Given the description of an element on the screen output the (x, y) to click on. 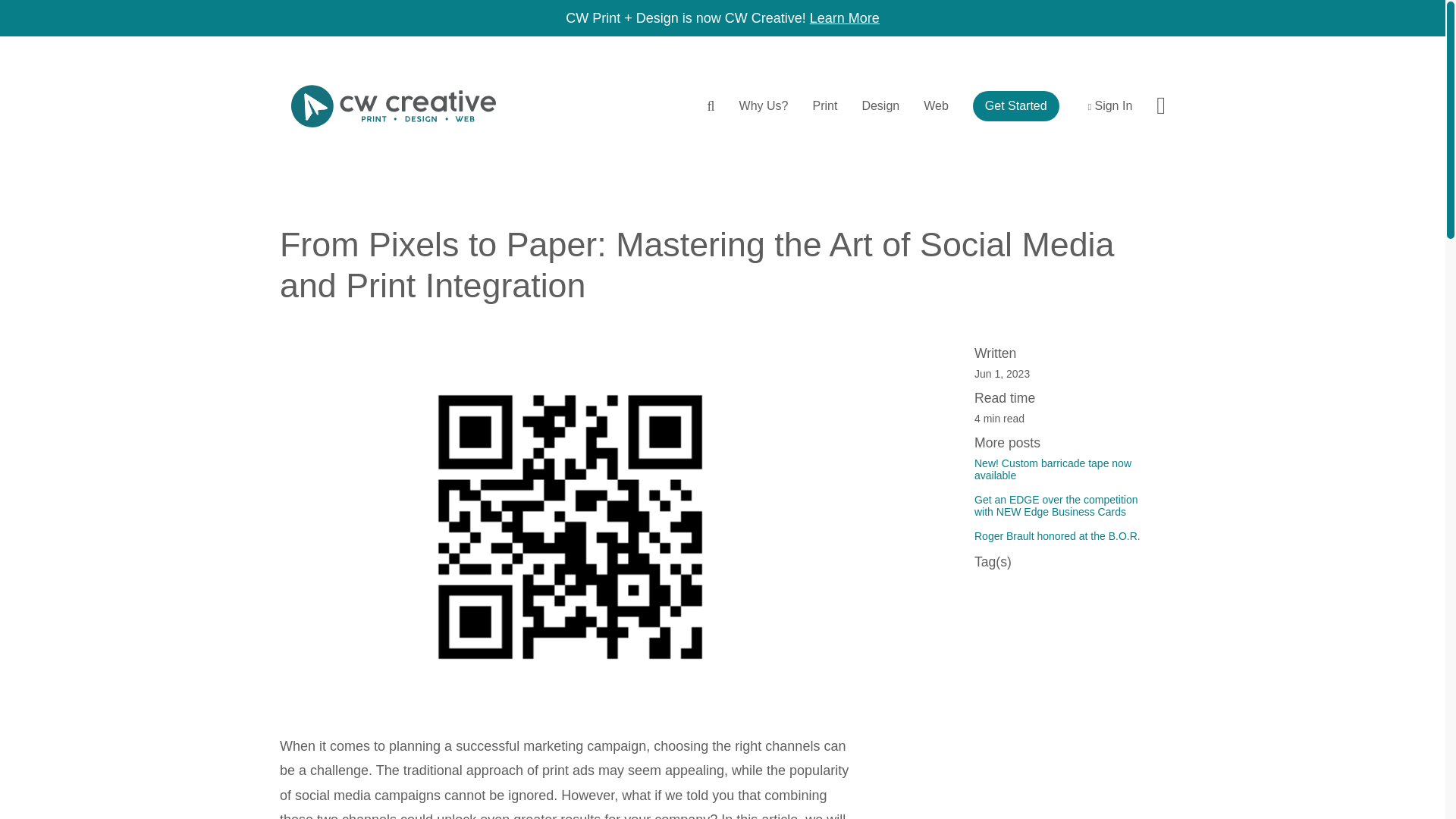
Web (936, 106)
Get Started (1015, 105)
Print (825, 106)
Learn More (844, 17)
Sign In (1107, 106)
Return Home (392, 105)
Why Us? (764, 106)
Design (880, 106)
